Given the description of an element on the screen output the (x, y) to click on. 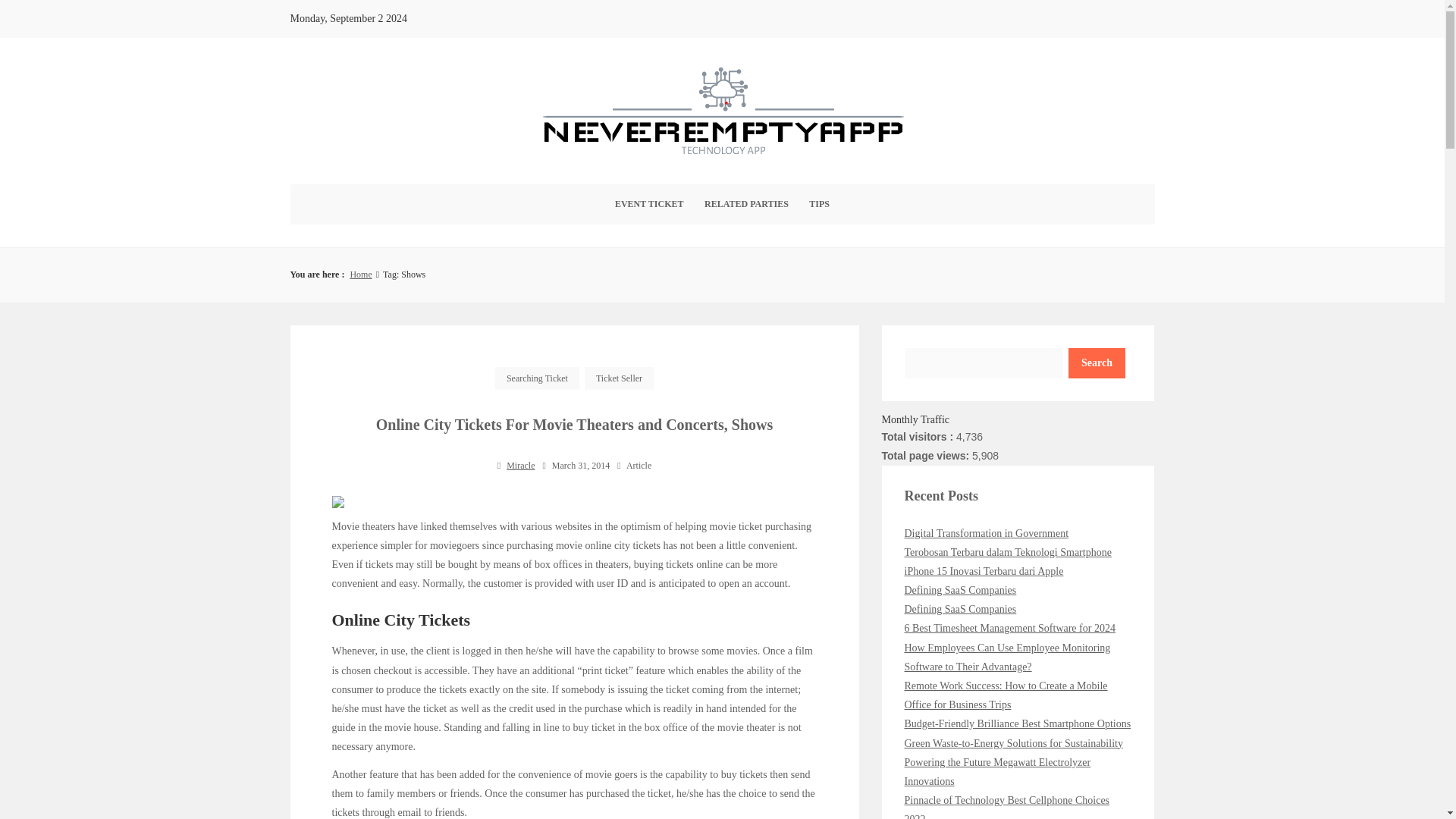
Posts by Miracle (520, 465)
RELATED PARTIES (746, 204)
Home (360, 274)
Miracle (520, 465)
TIPS (818, 204)
Search (1096, 363)
Searching Ticket (537, 377)
Search (1096, 363)
Ticket Seller (619, 377)
Online City Tickets For Movie Theaters and Concerts, Shows (574, 424)
